Given the description of an element on the screen output the (x, y) to click on. 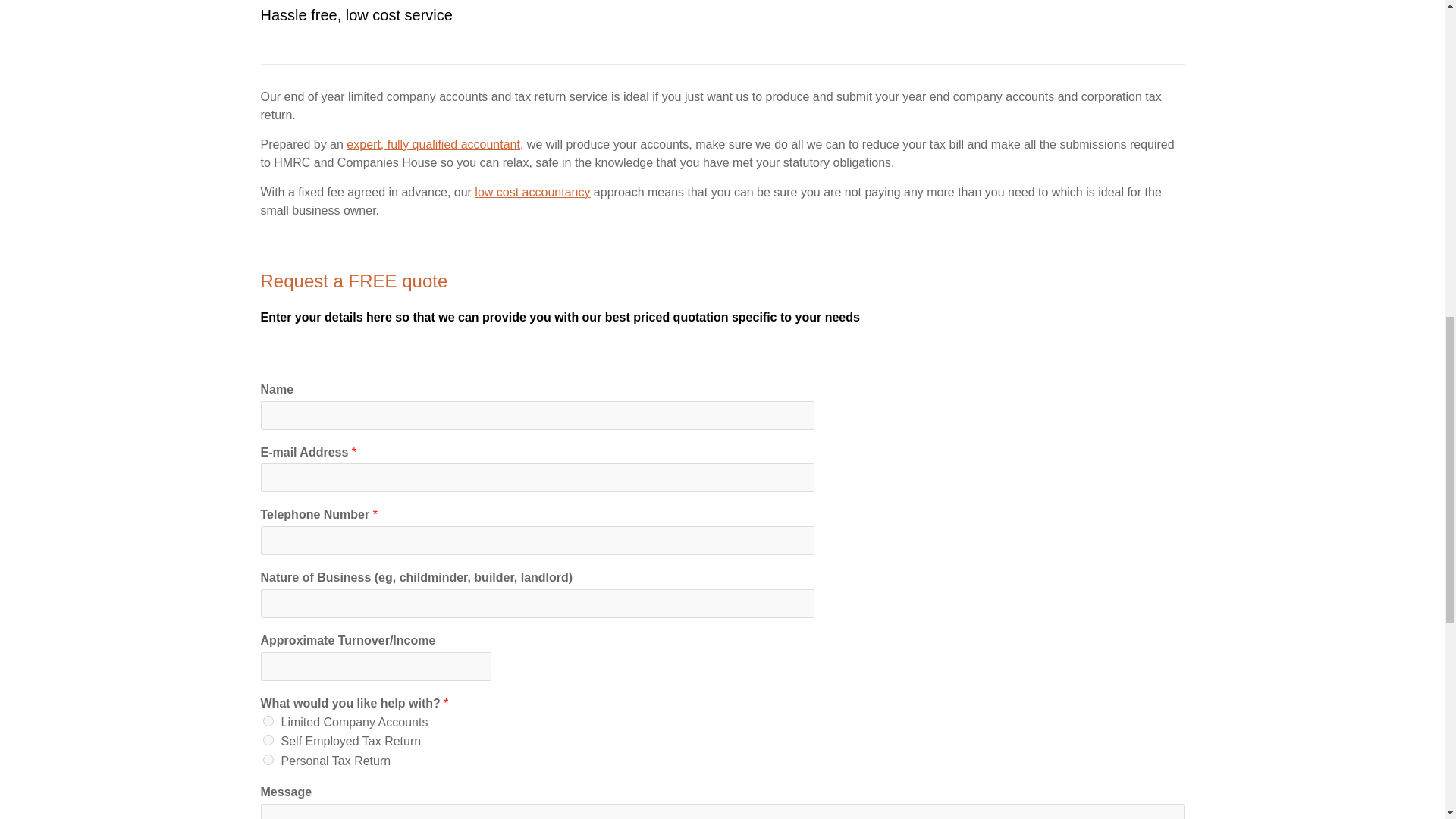
About Us (432, 144)
Personal Tax Return (267, 759)
Limited Company Accounts (267, 720)
low cost accountancy (531, 192)
Self Employed Tax Return (267, 739)
expert, fully qualified accountant (432, 144)
Low Cost Accountants (531, 192)
